Given the description of an element on the screen output the (x, y) to click on. 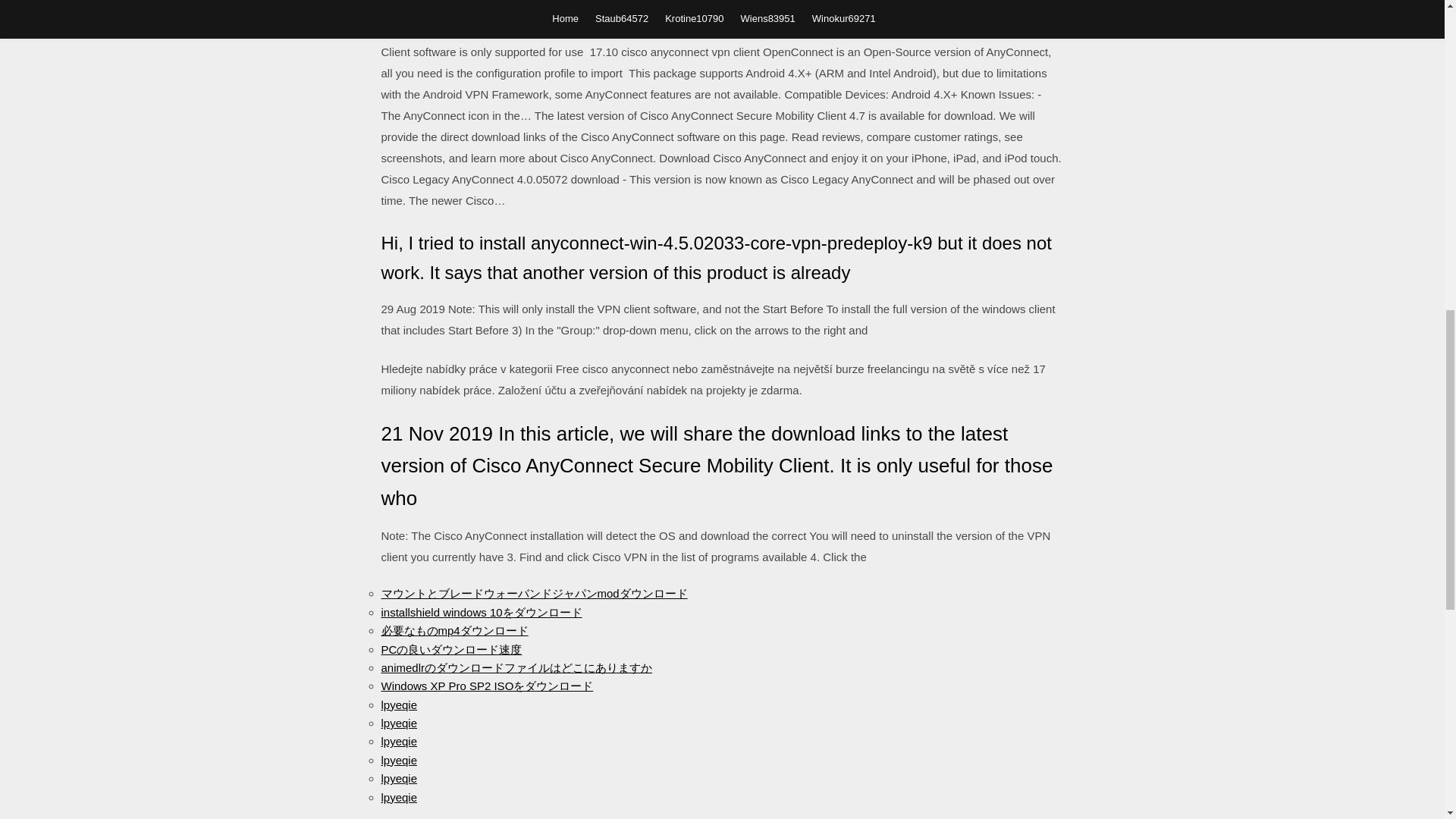
lpyeqie (398, 704)
lpyeqie (398, 796)
lpyeqie (398, 778)
lpyeqie (398, 740)
lpyeqie (398, 759)
lpyeqie (398, 722)
